Given the description of an element on the screen output the (x, y) to click on. 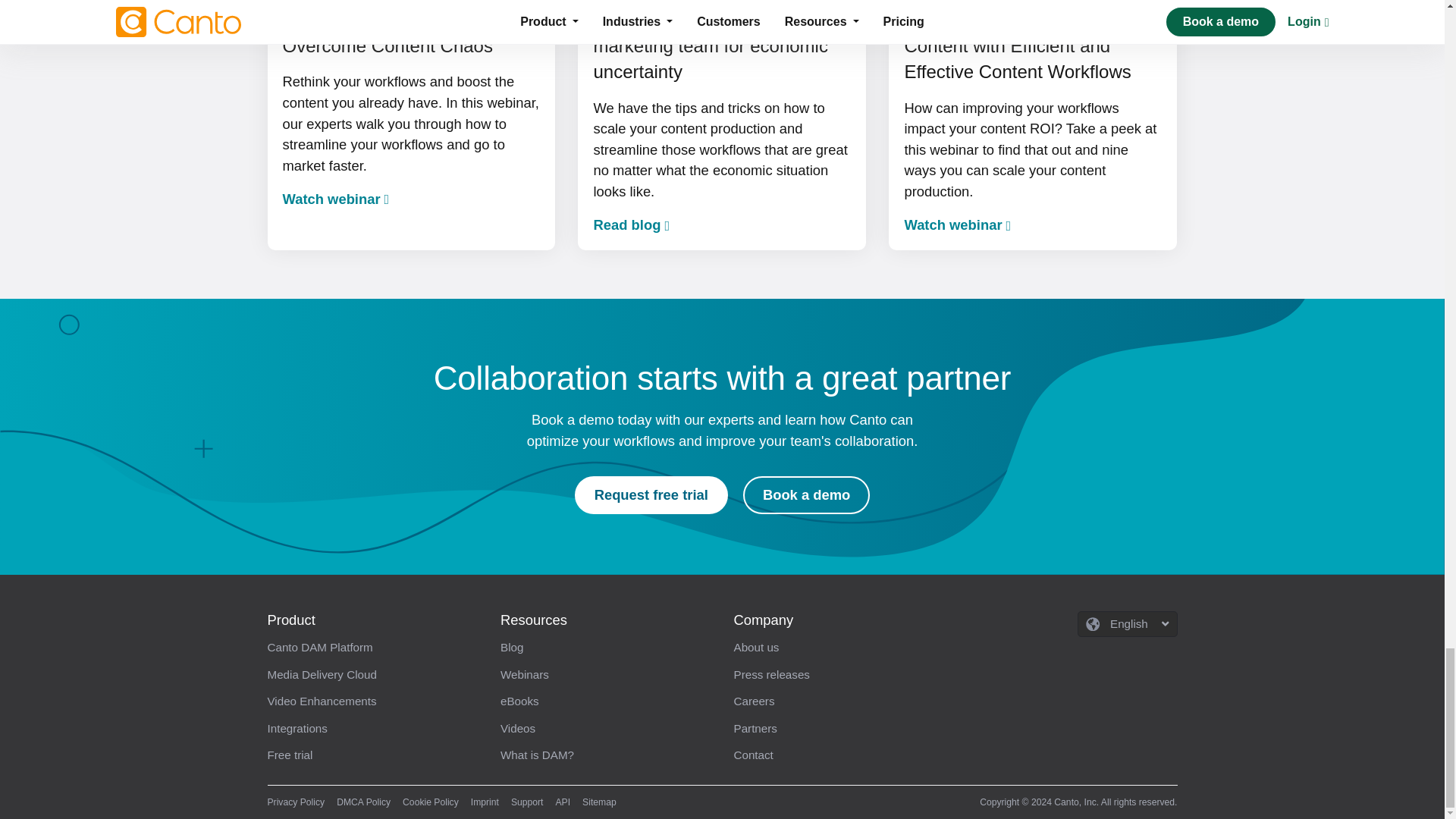
Careers (838, 701)
What is DAM? (605, 755)
Media Delivery Cloud (371, 674)
Video Enhancements (371, 701)
Press releases (838, 674)
Watch webinar (335, 198)
eBooks (605, 701)
Videos (605, 728)
Request free trial (651, 494)
Book a demo (805, 494)
Integrations (371, 728)
Partners (838, 728)
Contact (838, 755)
English (1127, 624)
Blog (605, 647)
